Given the description of an element on the screen output the (x, y) to click on. 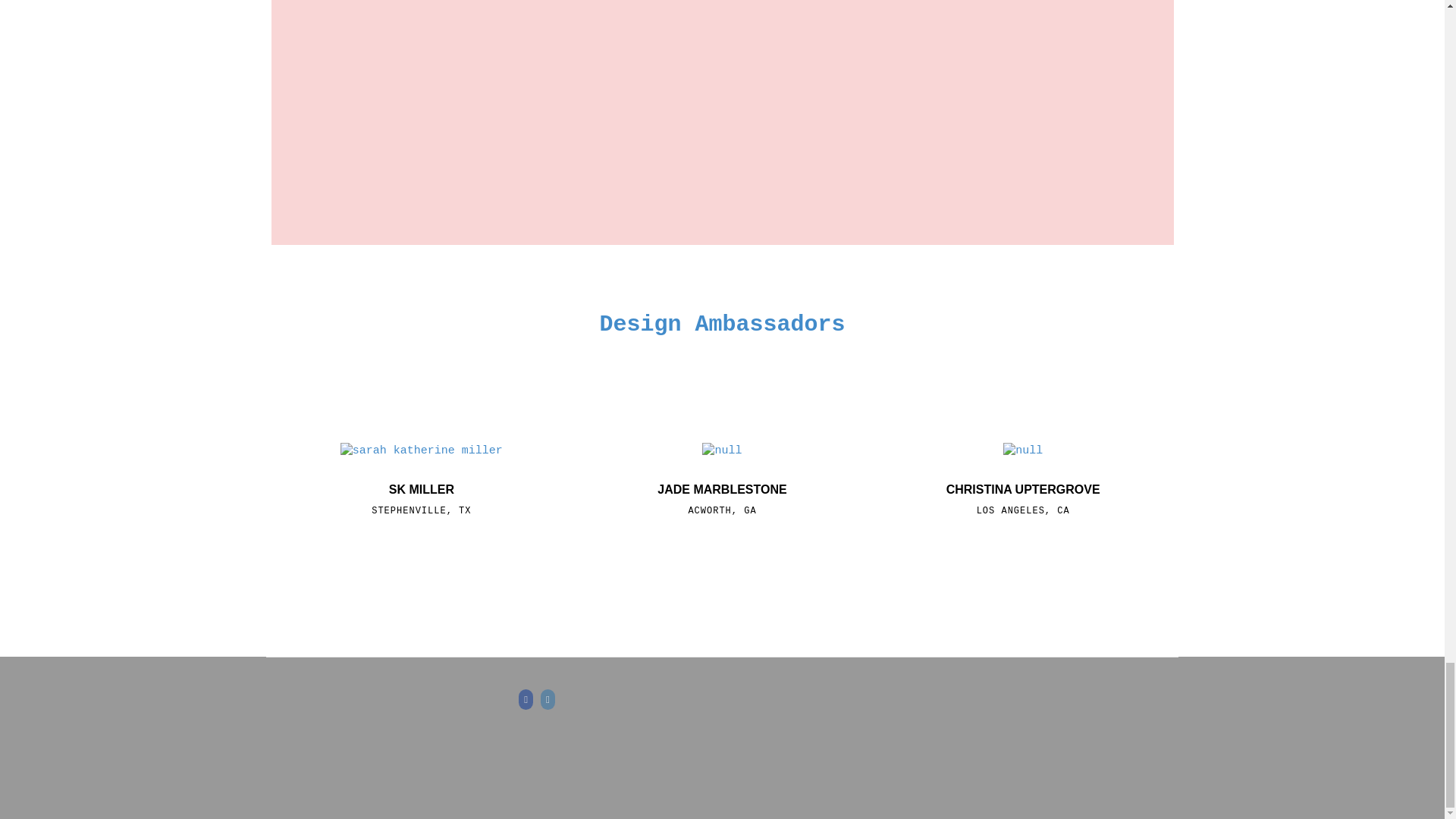
Facebook (526, 700)
Instagram (548, 700)
Our Products (721, 324)
